Given the description of an element on the screen output the (x, y) to click on. 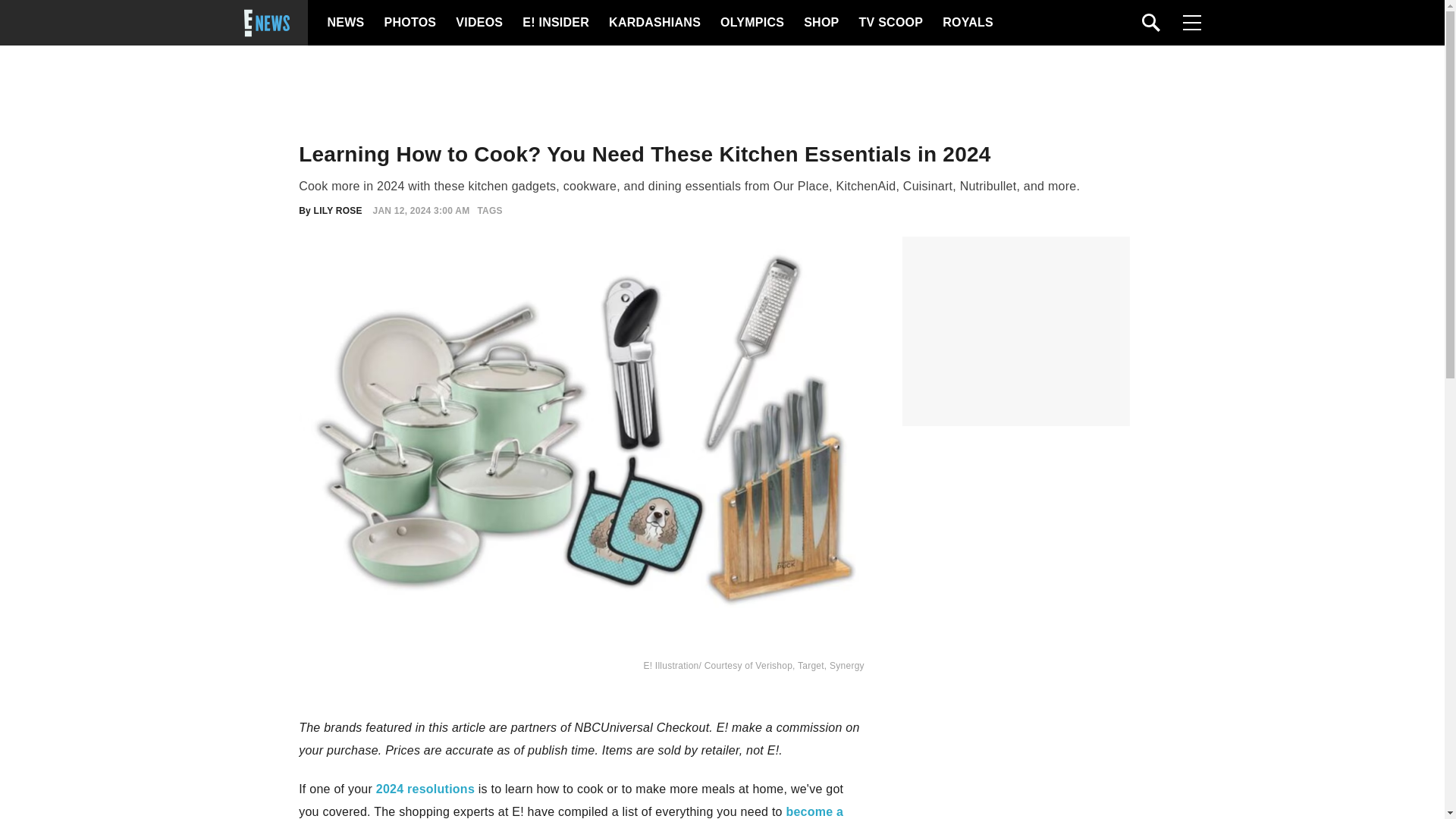
LILY ROSE (338, 210)
OLYMPICS (751, 22)
VIDEOS (478, 22)
KARDASHIANS (653, 22)
TV SCOOP (890, 22)
SHOP (820, 22)
ROYALS (966, 22)
PHOTOS (408, 22)
2024 resolutions (424, 788)
become a kitchen pro (570, 812)
